Given the description of an element on the screen output the (x, y) to click on. 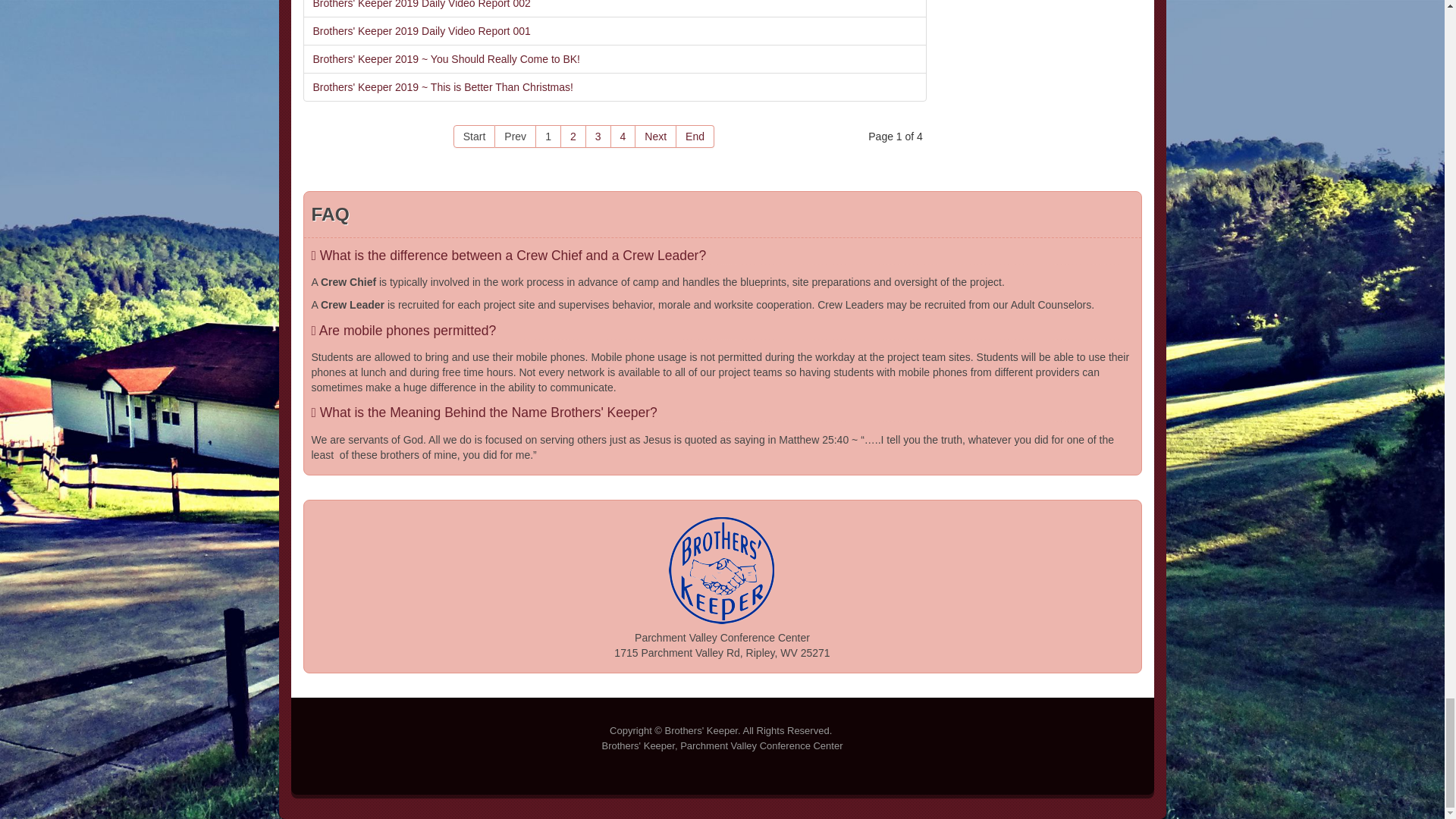
End (695, 136)
3 (598, 136)
2 (573, 136)
Brothers' Keeper 2019 Daily Video Report 001 (614, 30)
4 (623, 136)
Next (655, 136)
Brothers' Keeper 2019 Daily Video Report 002 (614, 8)
